Given the description of an element on the screen output the (x, y) to click on. 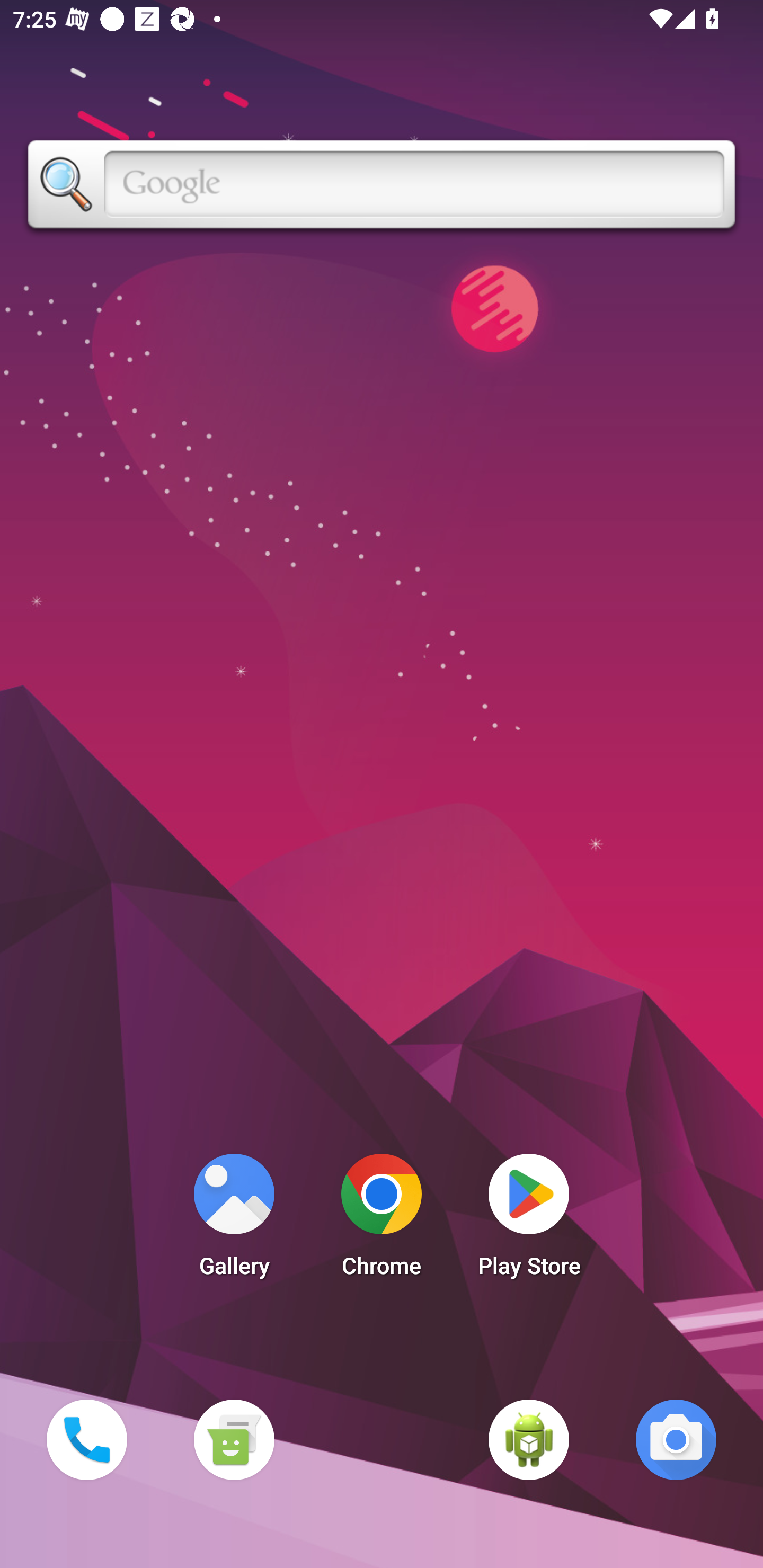
Gallery (233, 1220)
Chrome (381, 1220)
Play Store (528, 1220)
Phone (86, 1439)
Messaging (233, 1439)
WebView Browser Tester (528, 1439)
Camera (676, 1439)
